Given the description of an element on the screen output the (x, y) to click on. 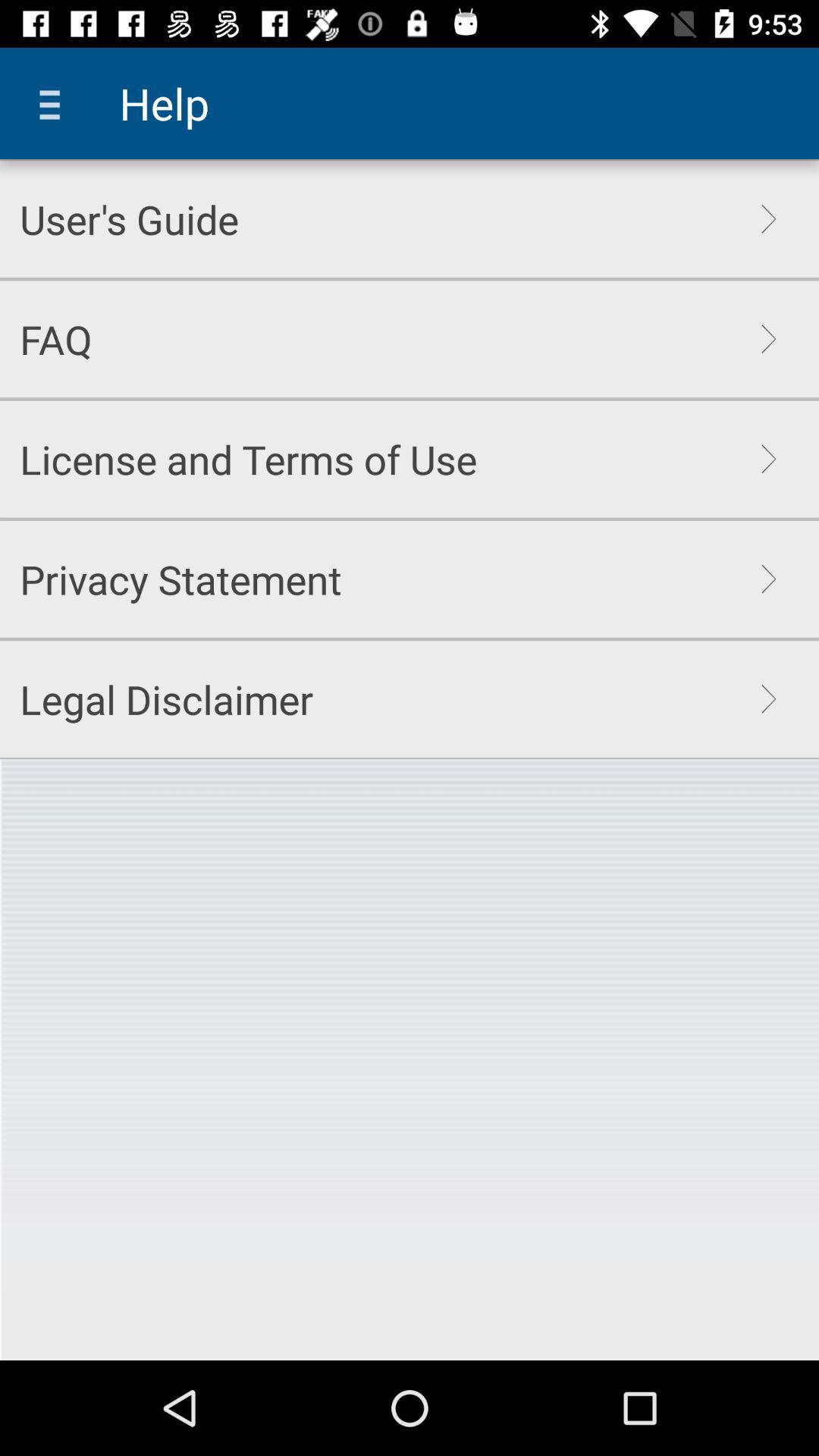
swipe to user's guide icon (129, 218)
